Given the description of an element on the screen output the (x, y) to click on. 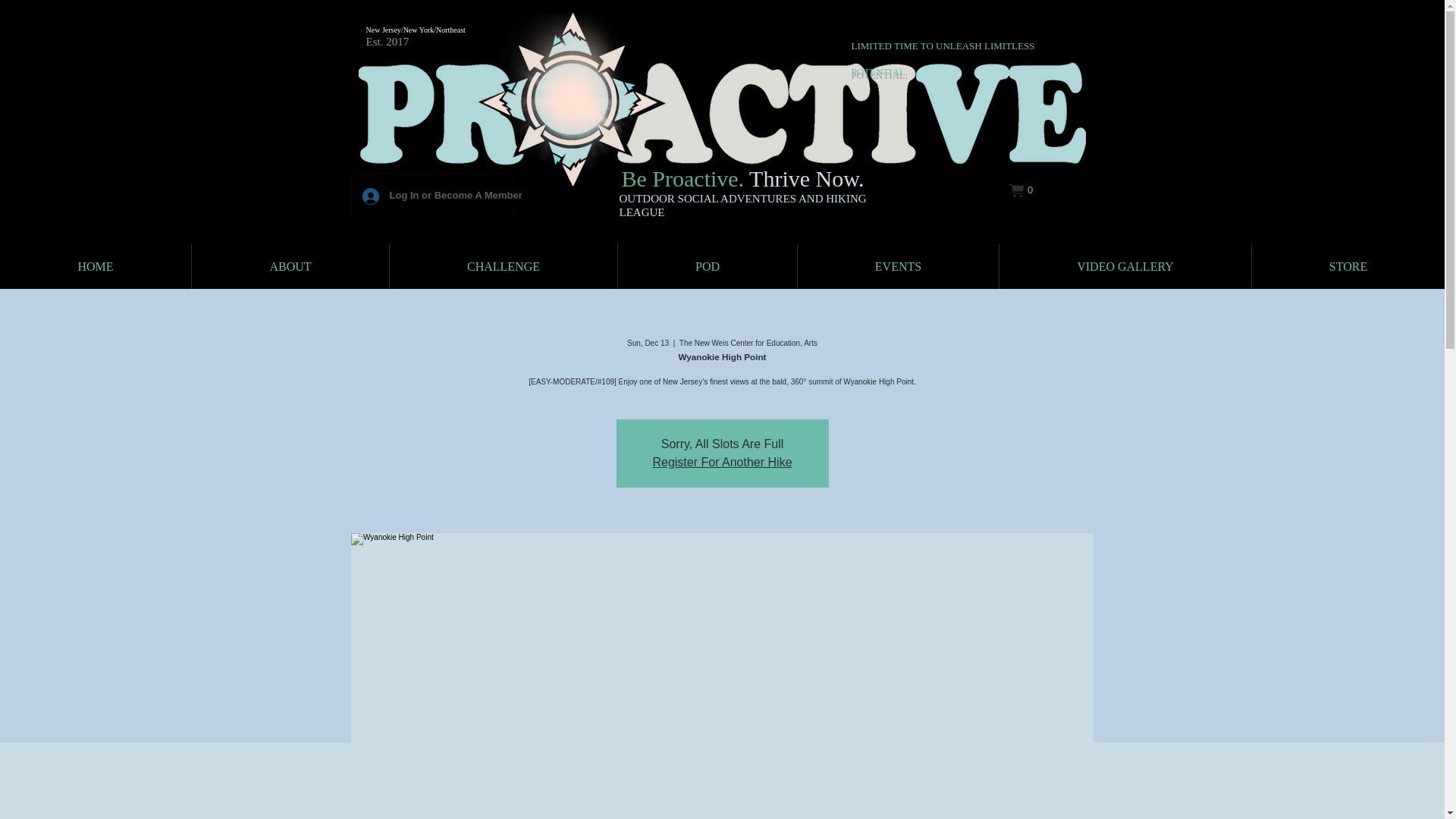
EVENTS (897, 266)
Register For Another Hike (722, 461)
VIDEO GALLERY (1124, 266)
HOME (95, 266)
CHALLENGE (503, 266)
POD (706, 266)
Log In or Become A Member (432, 196)
